Given the description of an element on the screen output the (x, y) to click on. 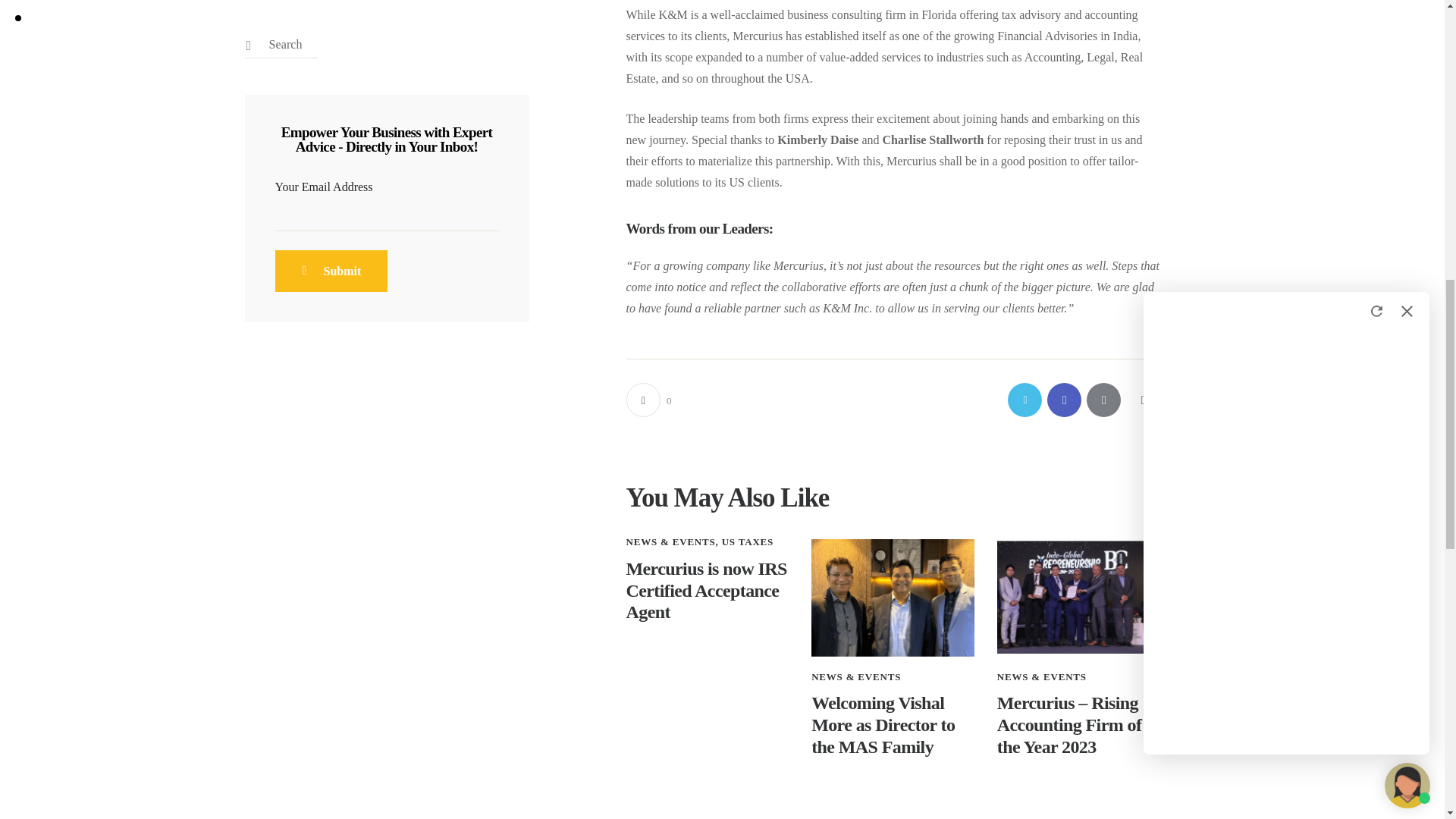
Like (648, 399)
Copy URL to clipboard (1141, 399)
